Given the description of an element on the screen output the (x, y) to click on. 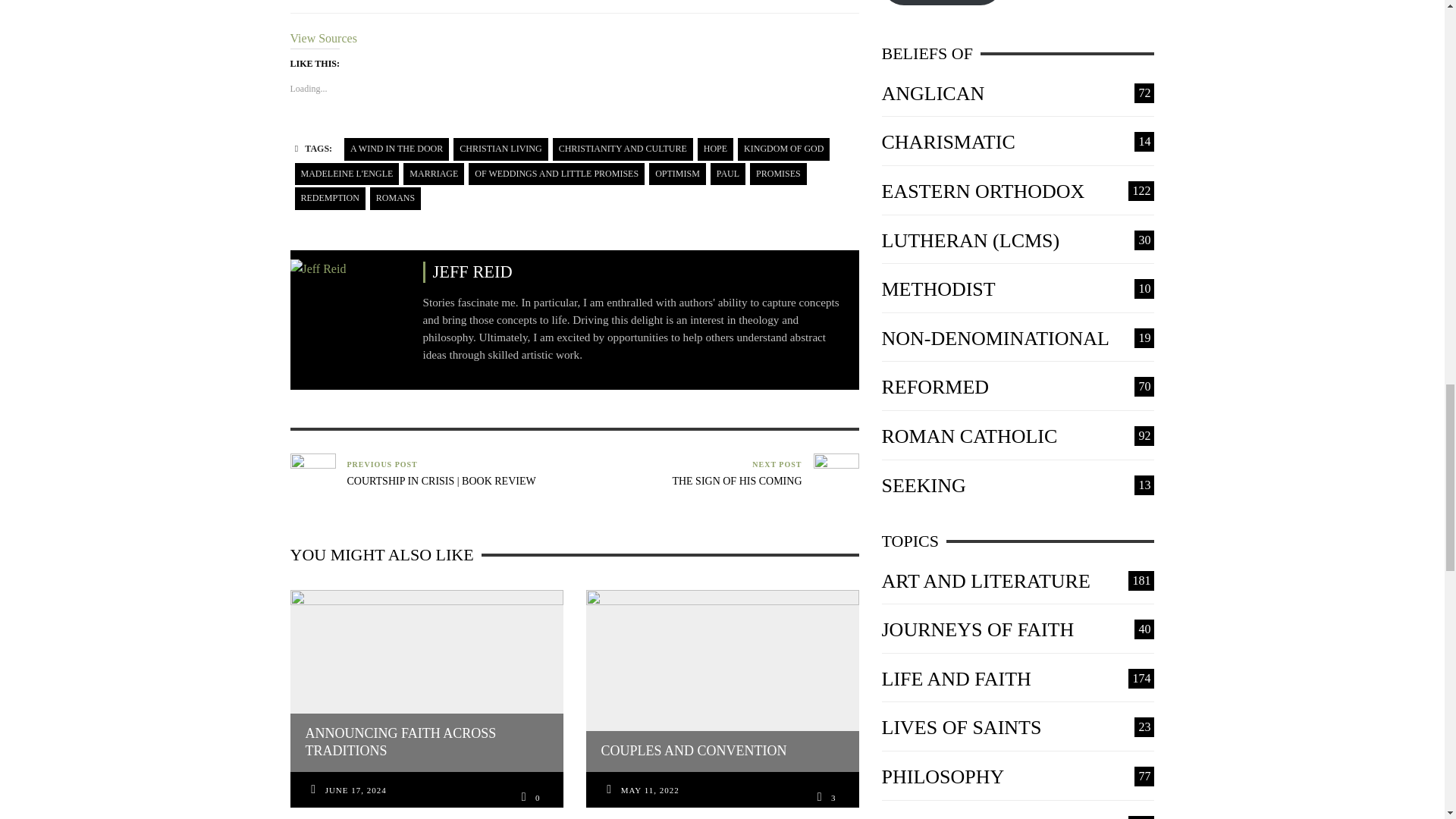
Permalink to Announcing Faith Across Traditions (355, 790)
View all posts by Jeff Reid (317, 267)
Permalink to Couples and Convention (650, 790)
